Given the description of an element on the screen output the (x, y) to click on. 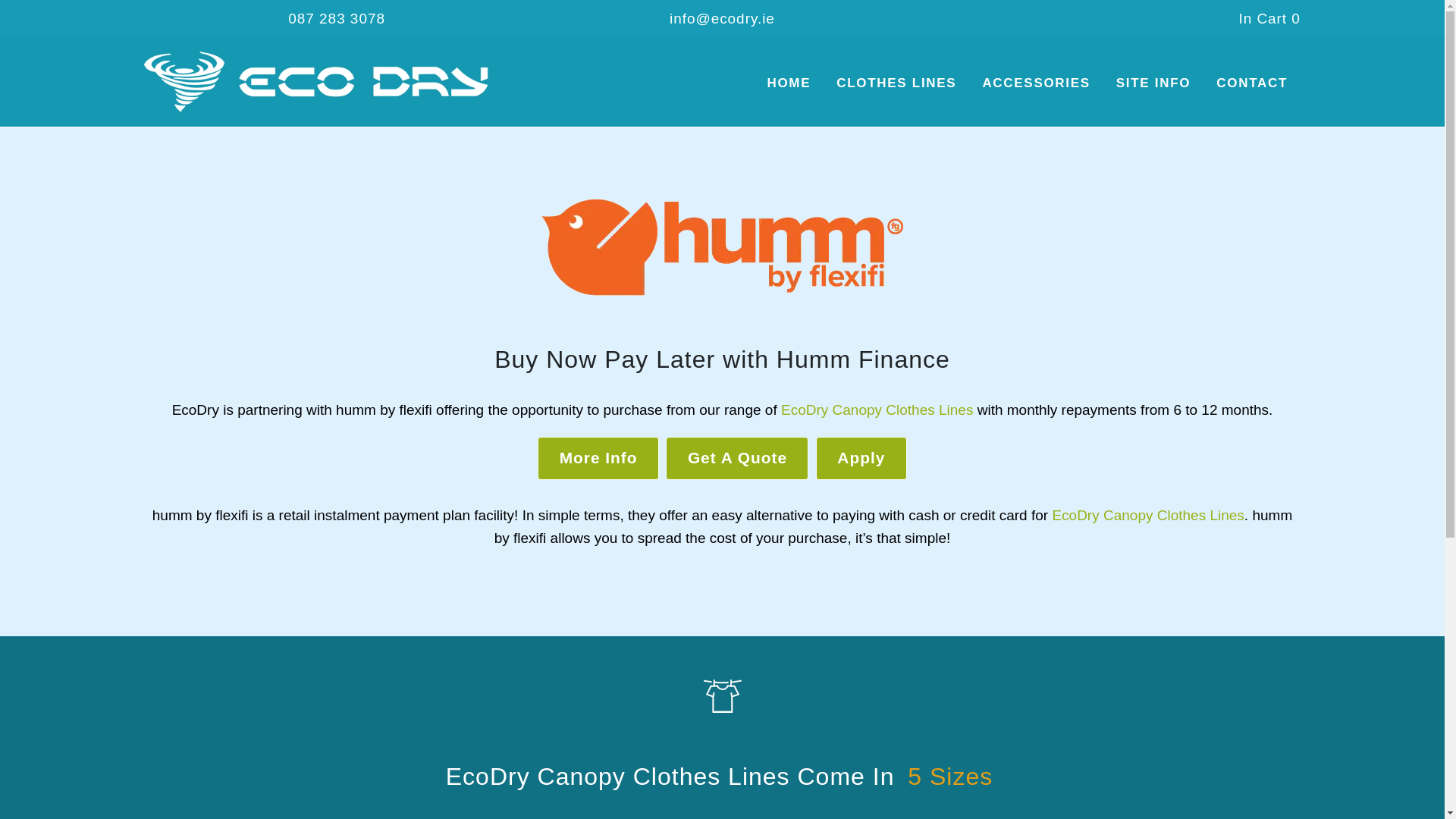
SITE INFO (1153, 81)
More Info (598, 457)
EcoDry Canopy Clothes Lines Ireland (323, 80)
087 283 3078 (336, 18)
EcoDry Canopy Clothes Lines (876, 409)
Get A Quote (736, 457)
View your shopping cart (1269, 18)
HOME (789, 81)
Apply (861, 457)
EcoDry Canopy Clothes Lines (1147, 514)
